Given the description of an element on the screen output the (x, y) to click on. 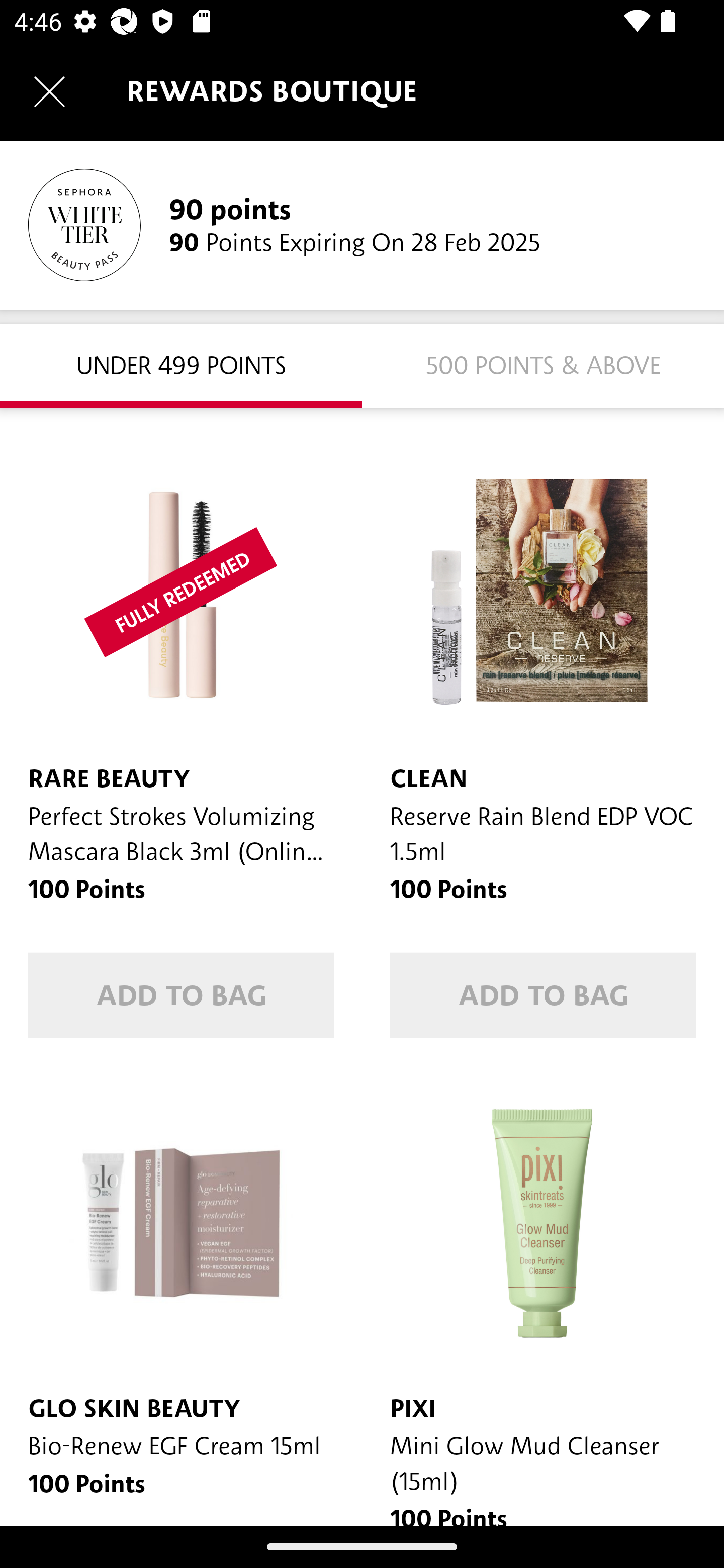
Navigate up (49, 91)
500 Points & Above 500 POINTS & ABOVE (543, 365)
ADD TO BAG (180, 995)
ADD TO BAG (542, 995)
PIXI Mini Glow Mud Cleanser (15ml) 100 Points (543, 1295)
